Given the description of an element on the screen output the (x, y) to click on. 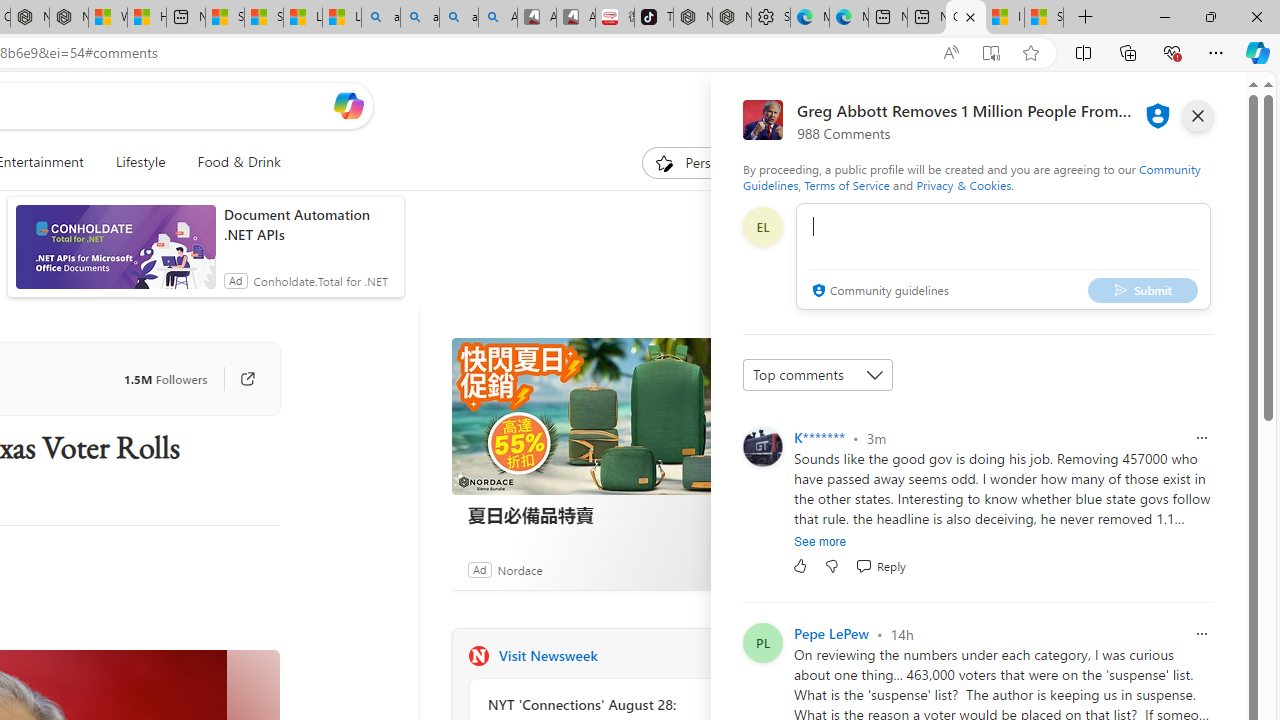
Amazon Echo Robot - Search Images (497, 17)
Lifestyle (139, 162)
Pepe LePew (831, 633)
I Gained 20 Pounds of Muscle in 30 Days! | Watch (1004, 17)
